Given the description of an element on the screen output the (x, y) to click on. 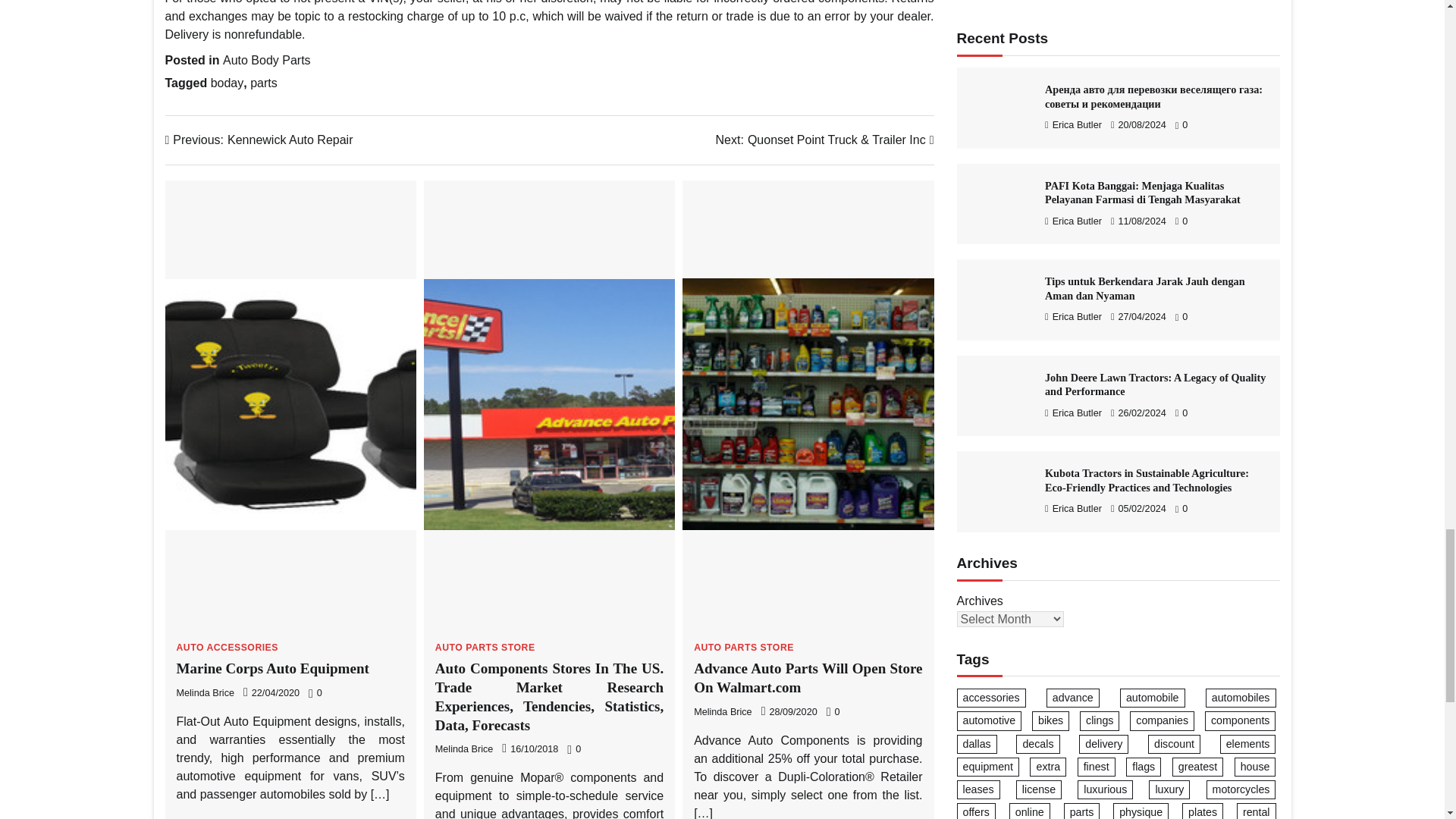
boday (227, 82)
Auto Body Parts (266, 60)
Marine Corps Auto Equipment (272, 668)
Melinda Brice (204, 692)
AUTO ACCESSORIES (227, 646)
Advance Auto Parts Will Open Store On Walmart.com (807, 677)
Melinda Brice (722, 711)
Melinda Brice (464, 748)
parts (264, 82)
